Given the description of an element on the screen output the (x, y) to click on. 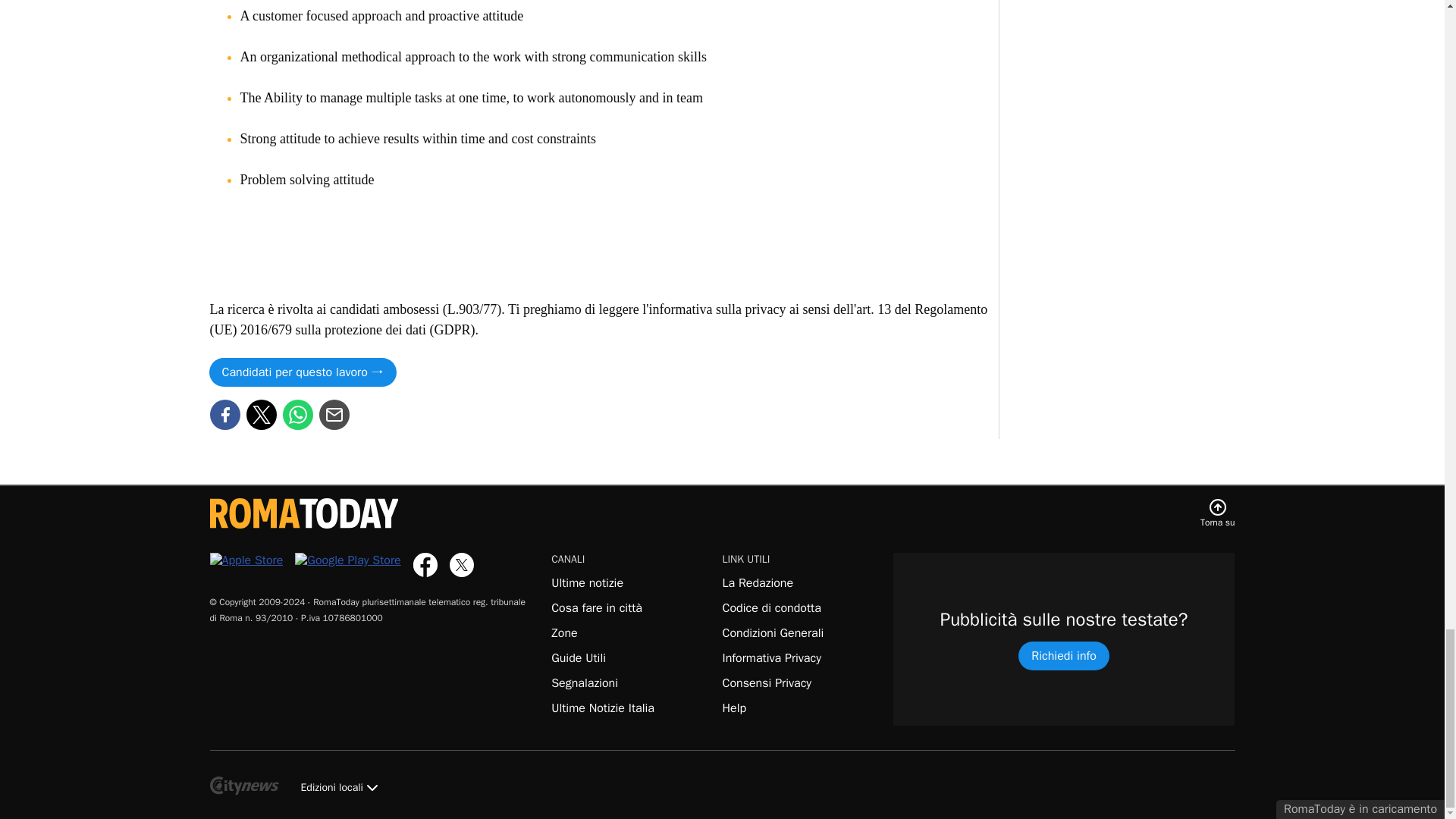
Segnalazioni (584, 683)
La Redazione (757, 582)
Condizioni Generali (773, 632)
WhatsApp (296, 414)
Ultime Notizie Italia (602, 708)
Codice di condotta (771, 607)
Ultime notizie (587, 582)
Guide Utili (578, 657)
eventi Roma (596, 607)
Twitter (260, 414)
